Given the description of an element on the screen output the (x, y) to click on. 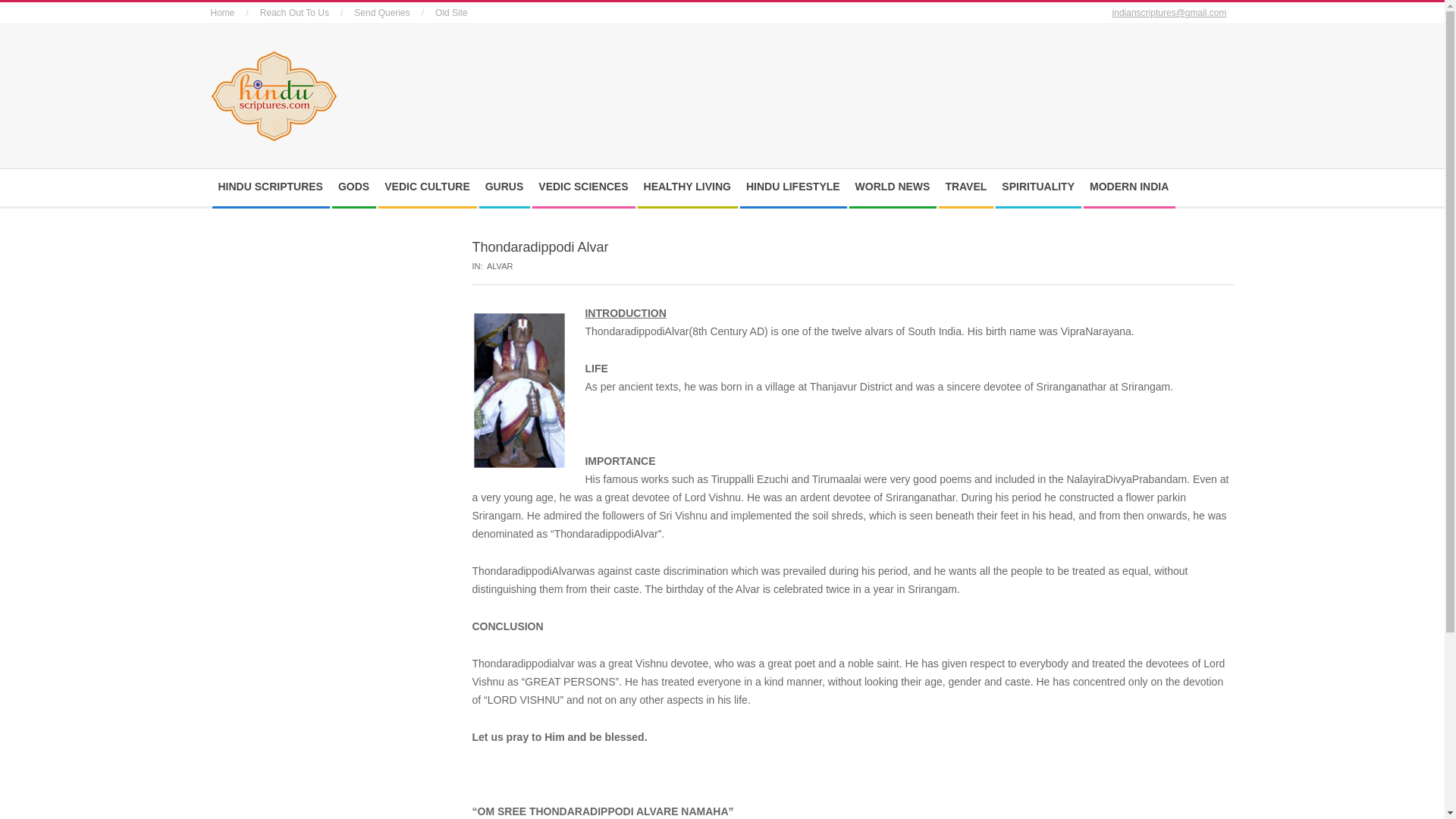
Old Site (451, 12)
Send Queries (381, 12)
Reach Out To Us (294, 12)
Home (222, 12)
HINDU SCRIPTURES (274, 187)
VEDIC CULTURE (430, 187)
GODS (357, 187)
